Given the description of an element on the screen output the (x, y) to click on. 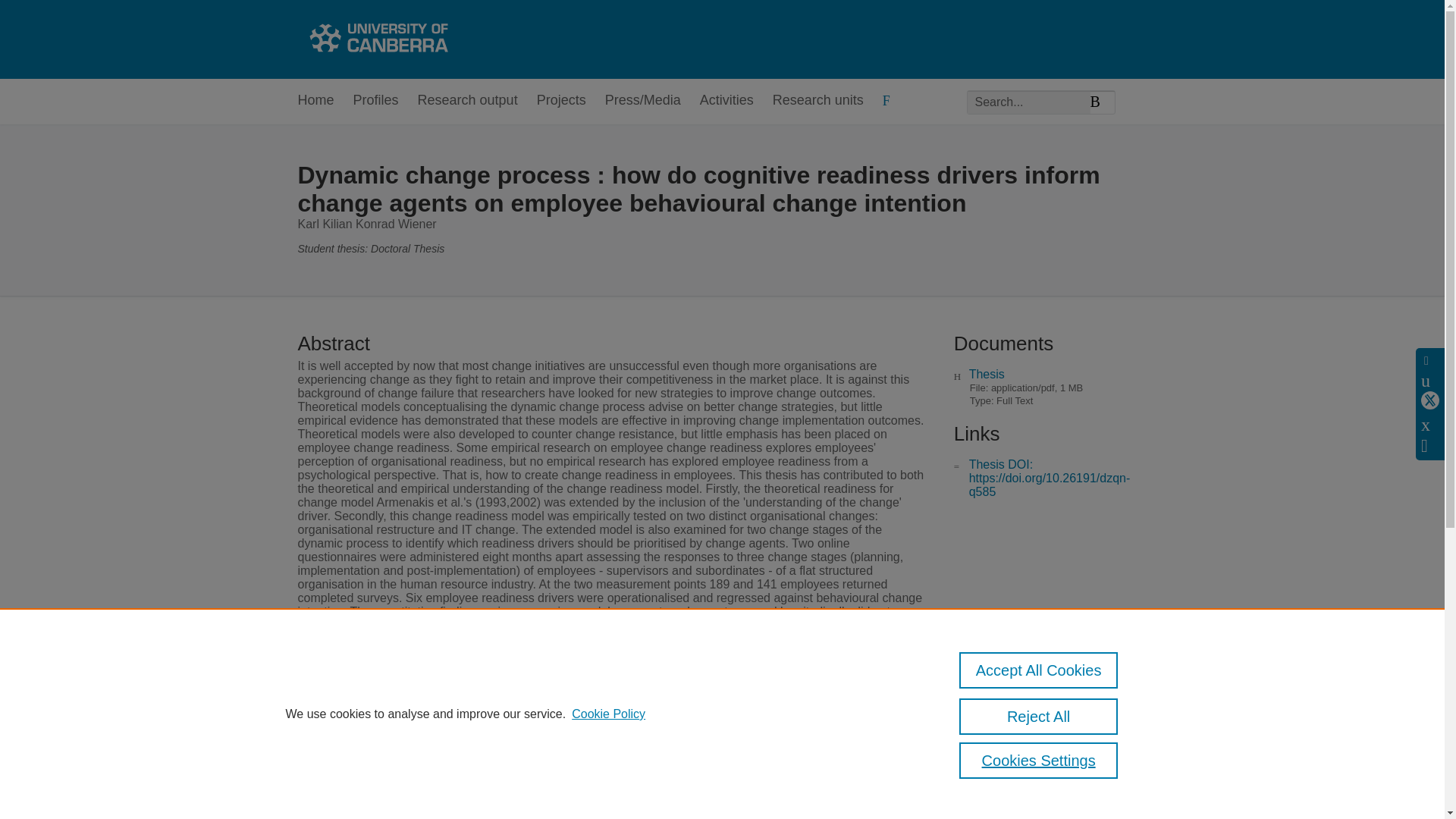
Accept All Cookies (1038, 669)
Cookie Policy (608, 713)
Thesis (986, 373)
Activities (727, 100)
Projects (561, 100)
Cookies Settings (1038, 760)
Reject All (1038, 716)
Profiles (375, 100)
University of Canberra Research Portal Home (377, 39)
Research output (467, 100)
Research units (818, 100)
